Given the description of an element on the screen output the (x, y) to click on. 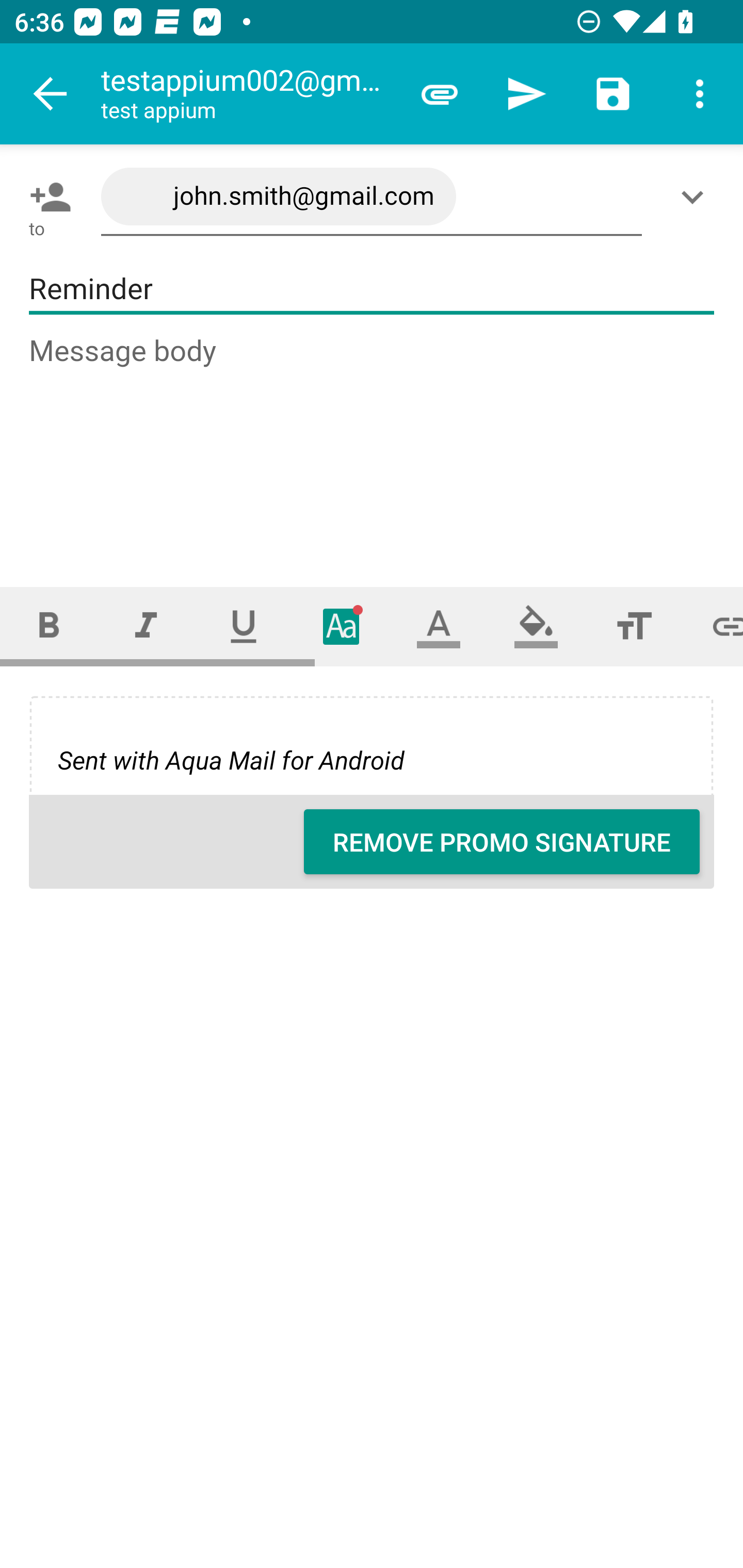
Navigate up (50, 93)
testappium002@gmail.com test appium (248, 93)
Attach (439, 93)
Send (525, 93)
Save (612, 93)
More options (699, 93)
john.smith@gmail.com,  (371, 197)
Pick contact: To (46, 196)
Show/Add CC/BCC (696, 196)
Reminder (371, 288)
Message body (372, 442)
Bold (48, 626)
Italic (145, 626)
Underline (243, 626)
Typeface (font) (341, 626)
Text color (438, 626)
Fill color (536, 626)
Font size (633, 626)
REMOVE PROMO SIGNATURE (501, 841)
